Given the description of an element on the screen output the (x, y) to click on. 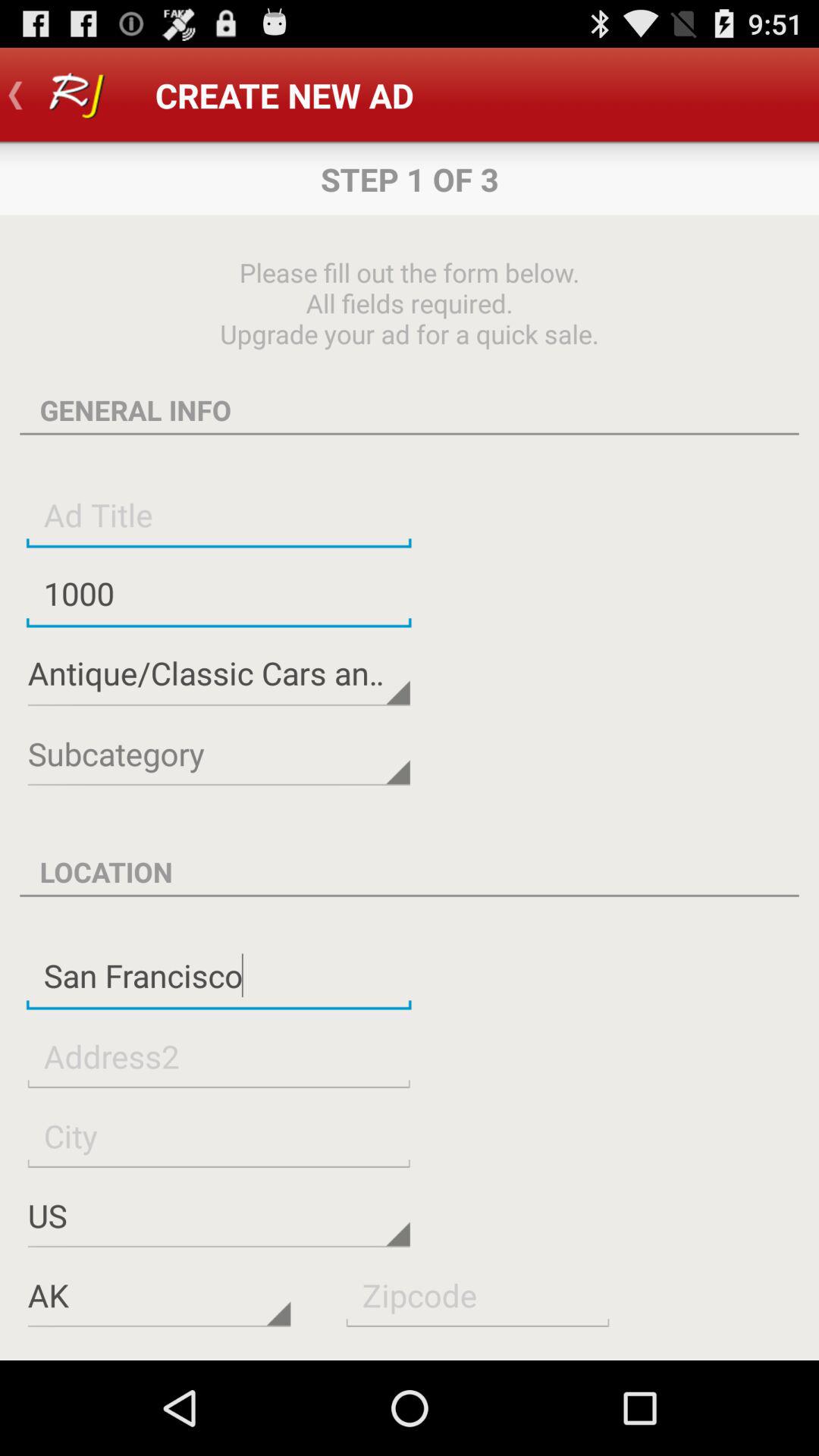
enter city name (218, 1135)
